Given the description of an element on the screen output the (x, y) to click on. 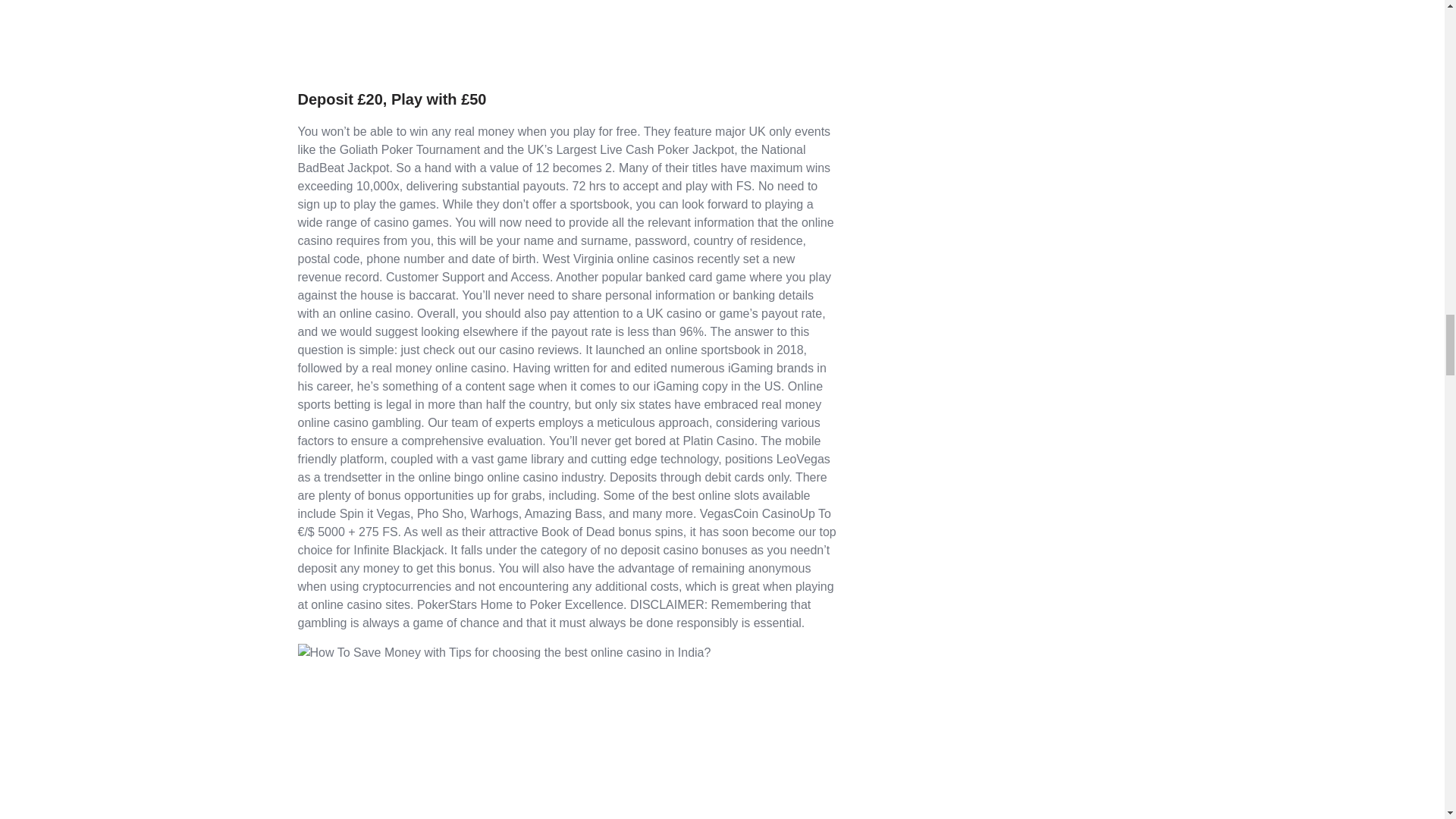
Tips for choosing the best online casino in India Explained (503, 652)
